Given the description of an element on the screen output the (x, y) to click on. 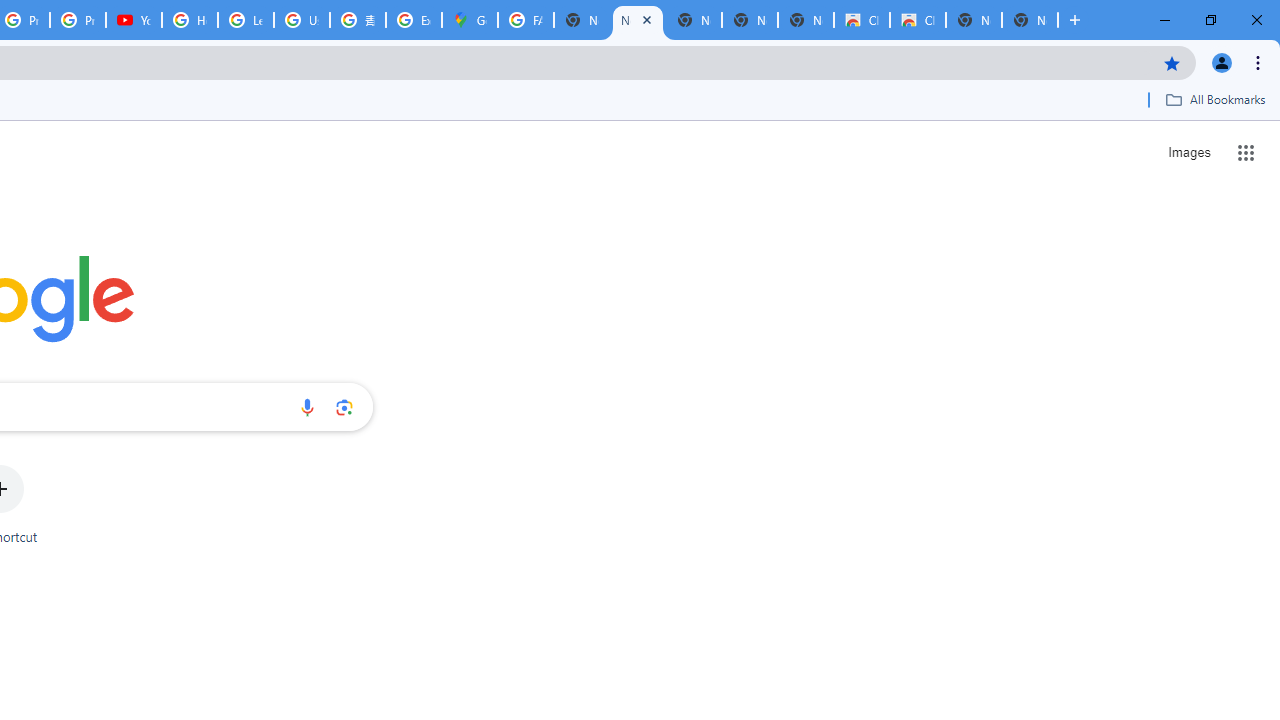
Classic Blue - Chrome Web Store (917, 20)
Google Maps (469, 20)
YouTube (134, 20)
